Given the description of an element on the screen output the (x, y) to click on. 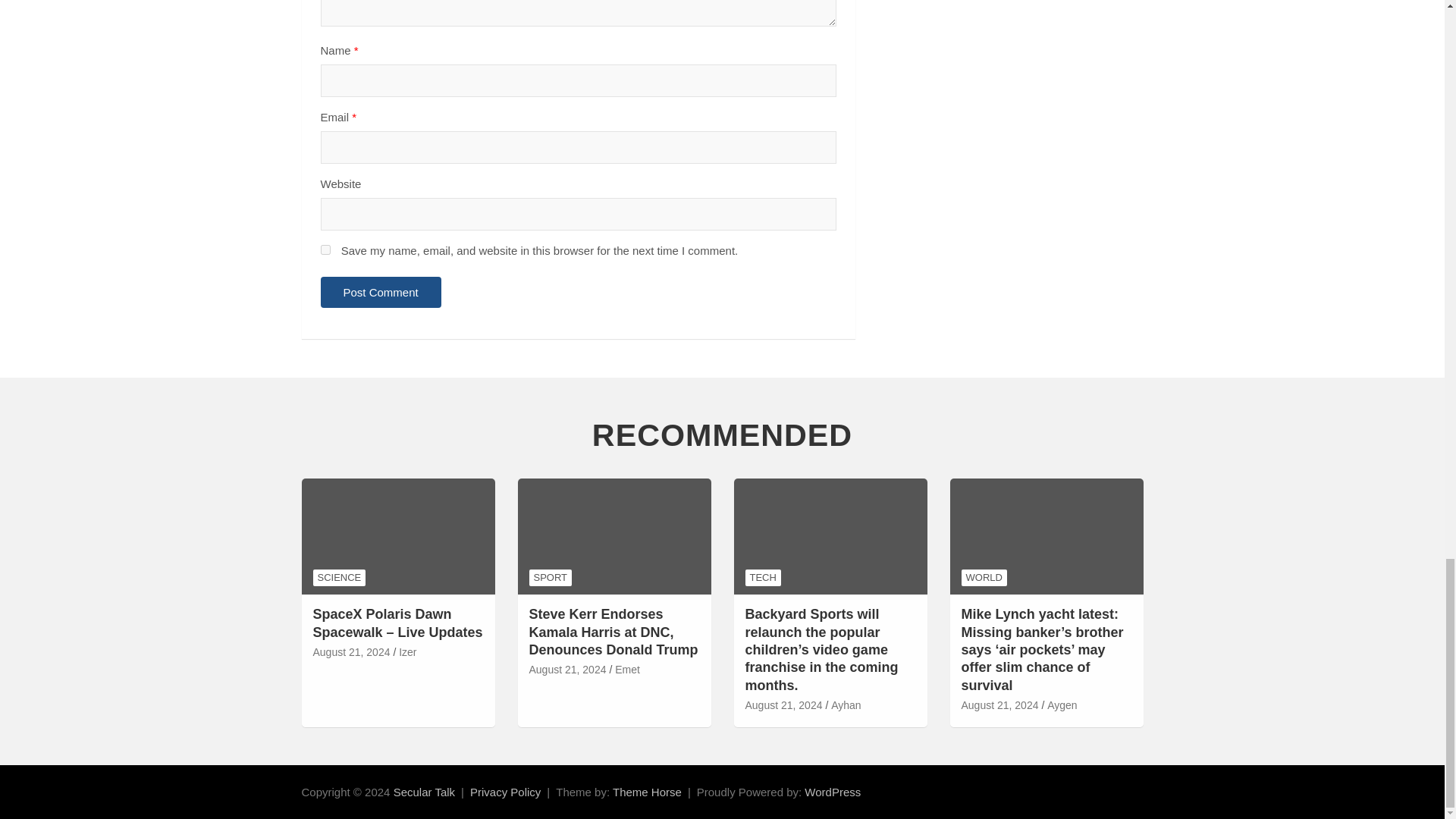
SCIENCE (339, 577)
yes (325, 249)
Post Comment (380, 291)
Izer (407, 652)
Secular Talk (423, 791)
WordPress (832, 791)
Theme Horse (646, 791)
August 21, 2024 (351, 652)
Post Comment (380, 291)
